Given the description of an element on the screen output the (x, y) to click on. 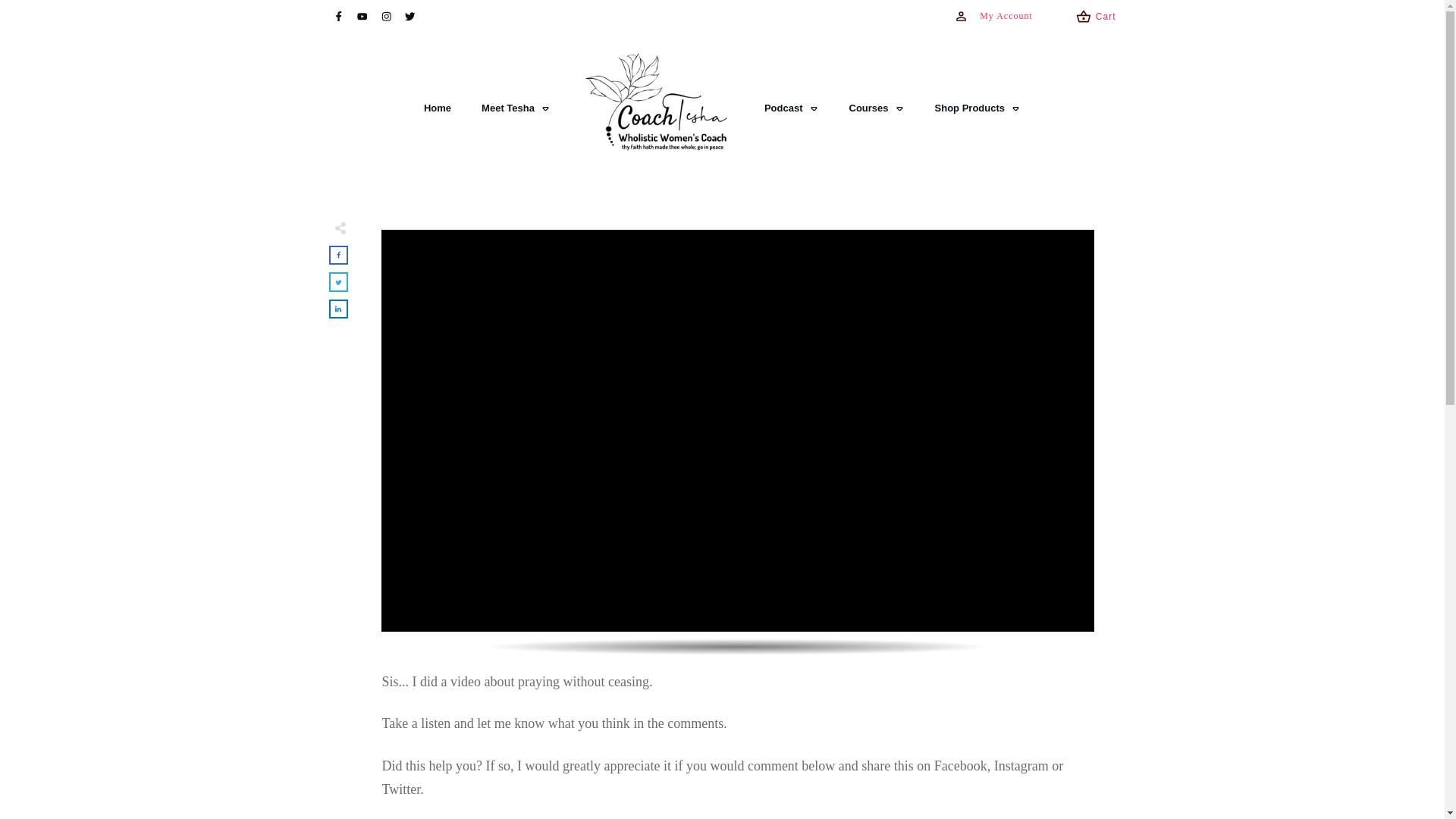
Podcast (791, 107)
Home (437, 107)
Courses (876, 107)
Meet Tesha (515, 107)
Shop Products (977, 107)
My Account (993, 16)
